Given the description of an element on the screen output the (x, y) to click on. 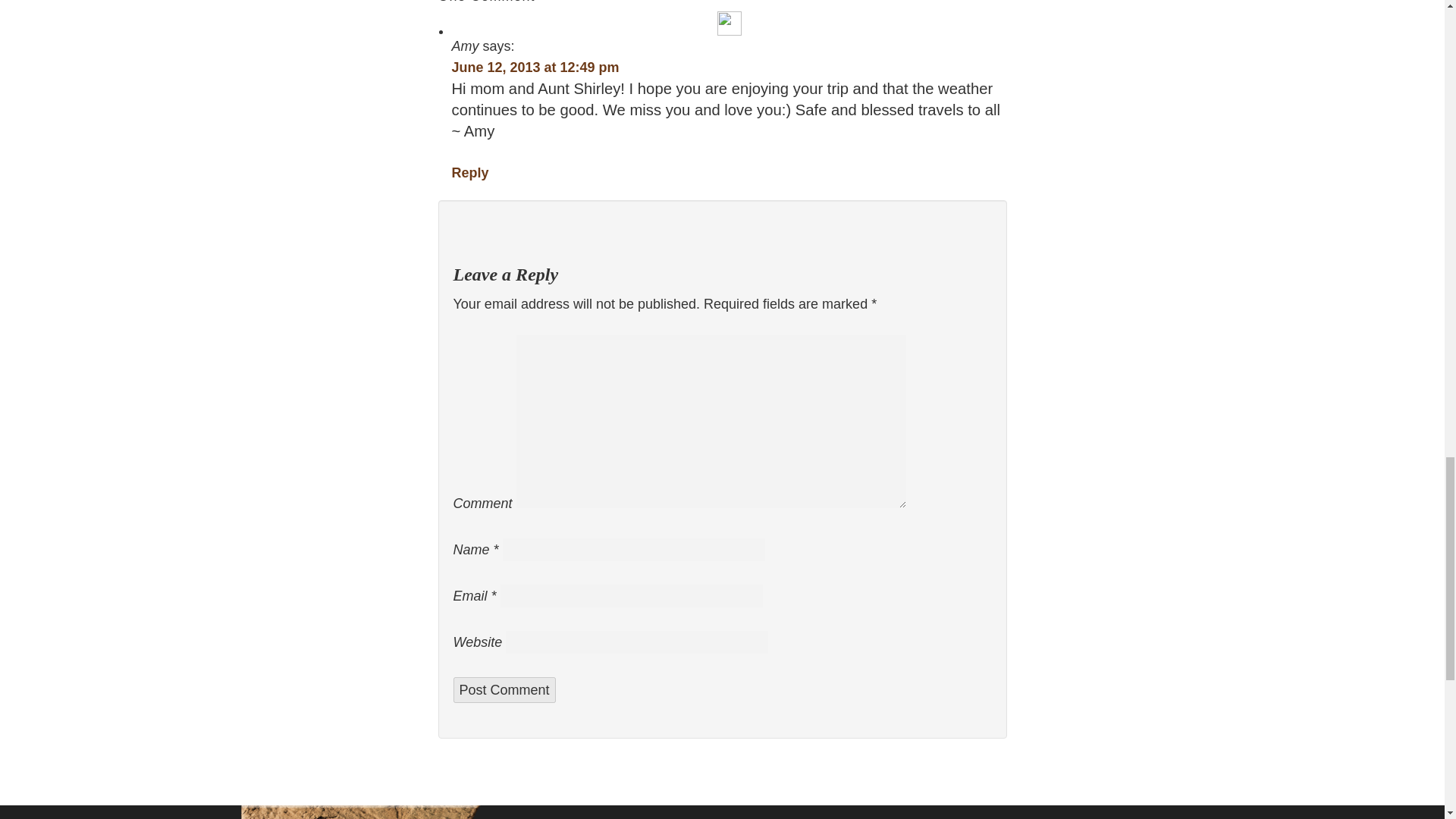
June 12, 2013 at 12:49 pm (535, 67)
Post Comment (504, 689)
Post Comment (504, 689)
Reply (470, 172)
